Given the description of an element on the screen output the (x, y) to click on. 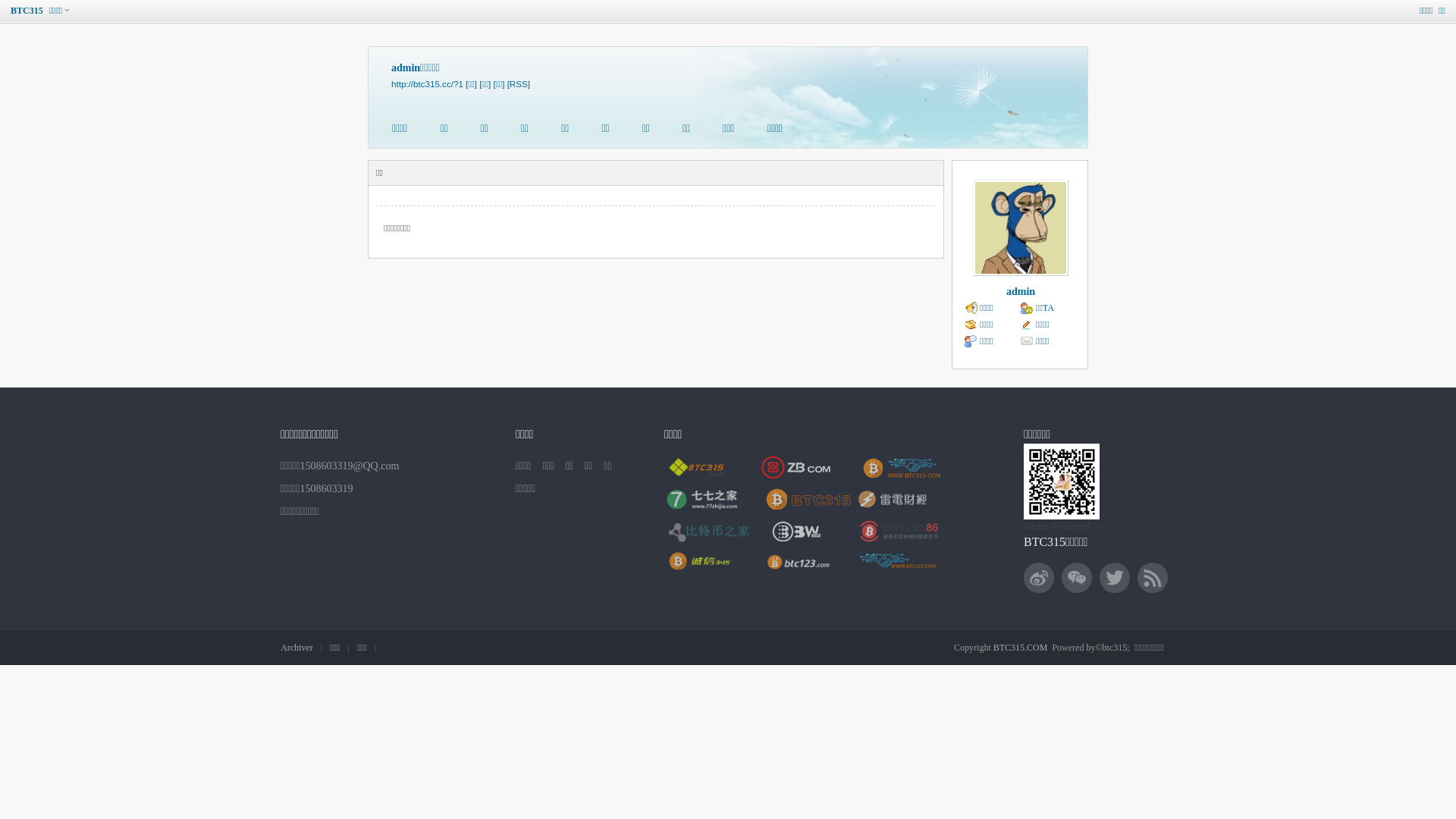
http://btc315.cc/?1 Element type: text (427, 83)
BTC315.COM Element type: text (1020, 647)
BTC315 Element type: text (26, 10)
[RSS] Element type: text (518, 83)
admin Element type: text (1020, 291)
Archiver Element type: text (296, 647)
